Given the description of an element on the screen output the (x, y) to click on. 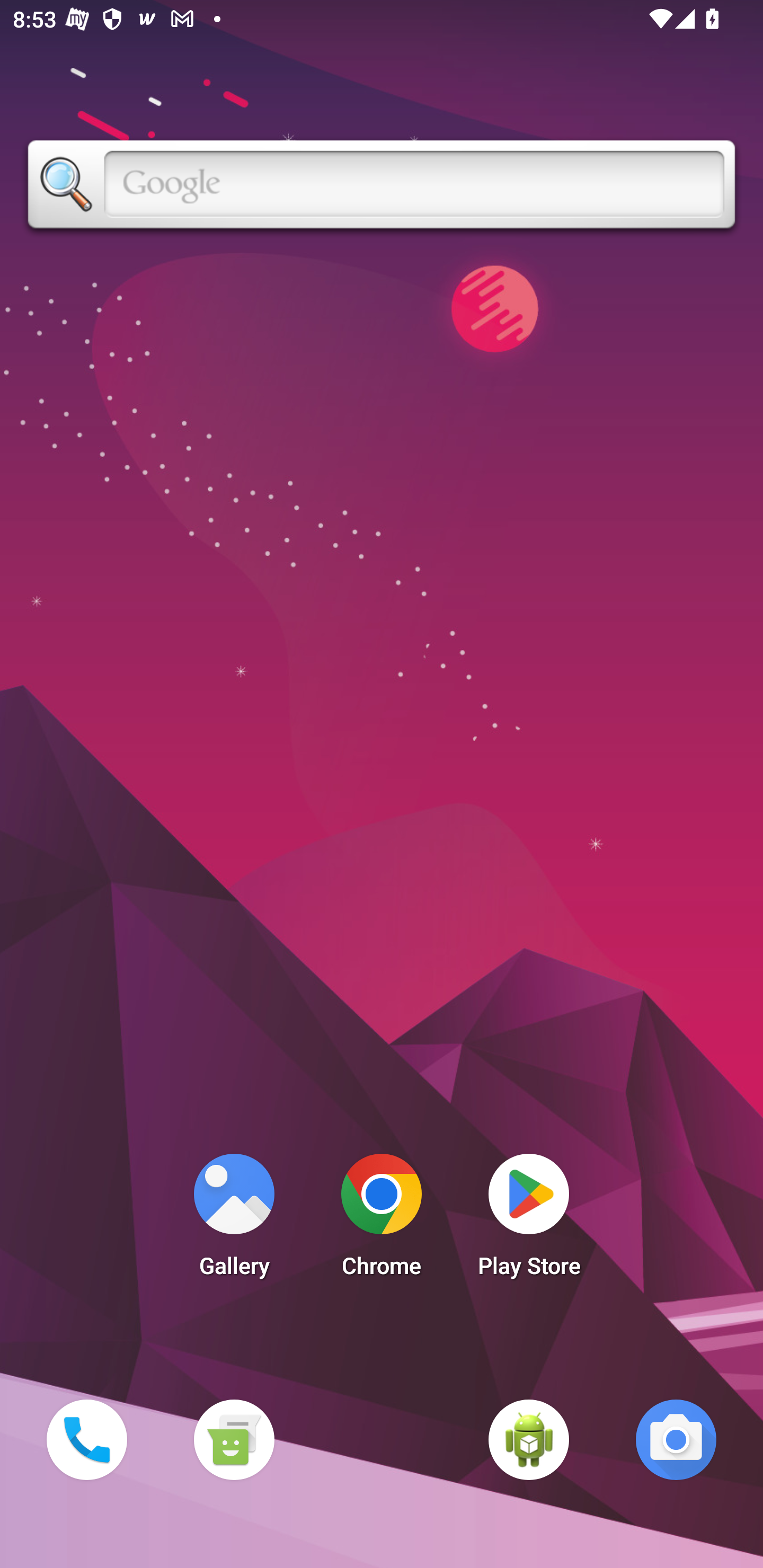
Gallery (233, 1220)
Chrome (381, 1220)
Play Store (528, 1220)
Phone (86, 1439)
Messaging (233, 1439)
WebView Browser Tester (528, 1439)
Camera (676, 1439)
